Given the description of an element on the screen output the (x, y) to click on. 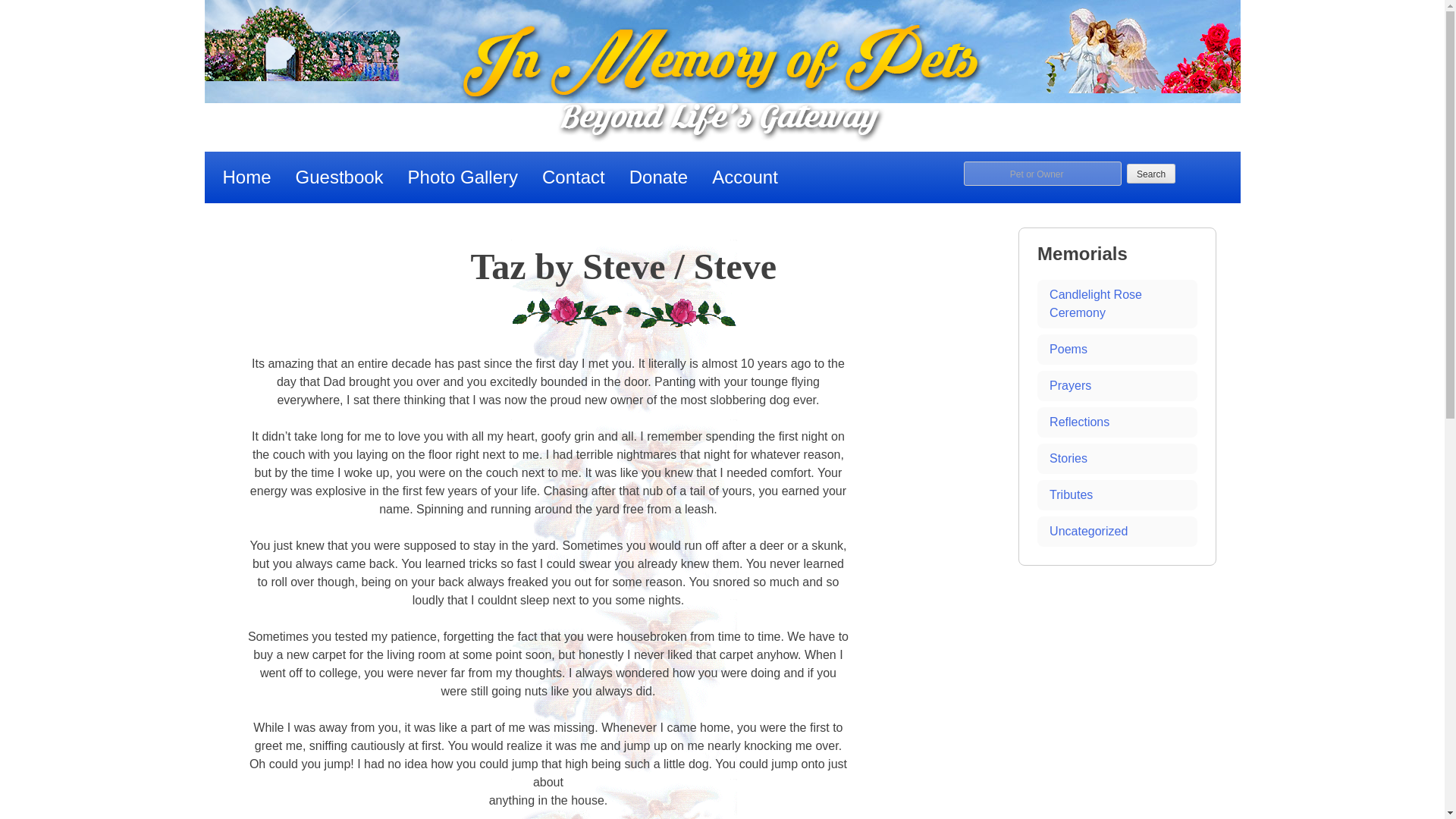
Poems (1116, 349)
Photo Gallery (462, 177)
Donate (658, 177)
Search (1150, 173)
Stories (1116, 458)
Contact (573, 177)
Candlelight Rose Ceremony (1116, 304)
Guestbook (339, 177)
Prayers (1116, 386)
Search (1150, 173)
